Given the description of an element on the screen output the (x, y) to click on. 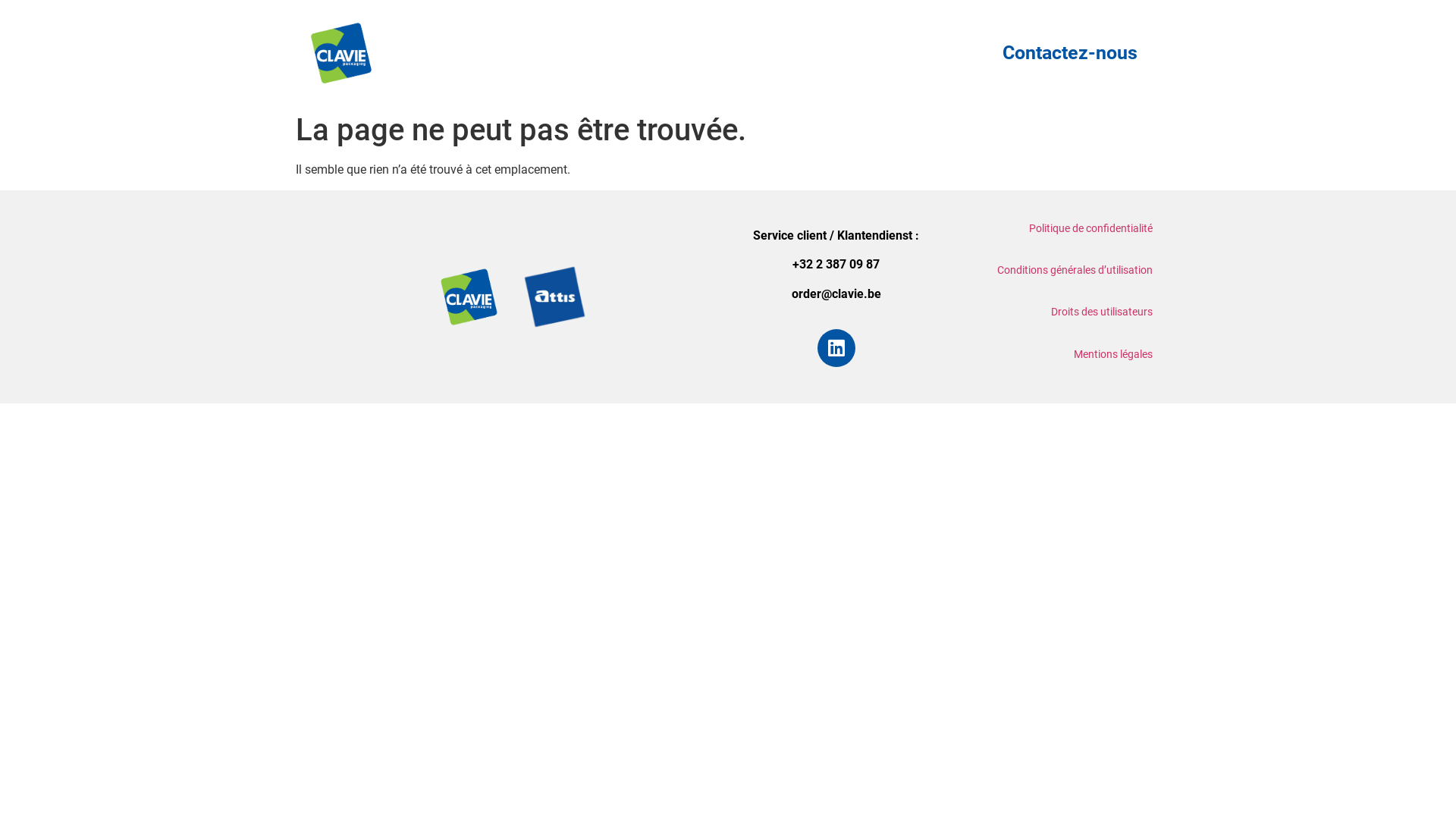
Contactez-nous Element type: text (1069, 52)
Droits des utilisateurs Element type: text (1101, 311)
